Given the description of an element on the screen output the (x, y) to click on. 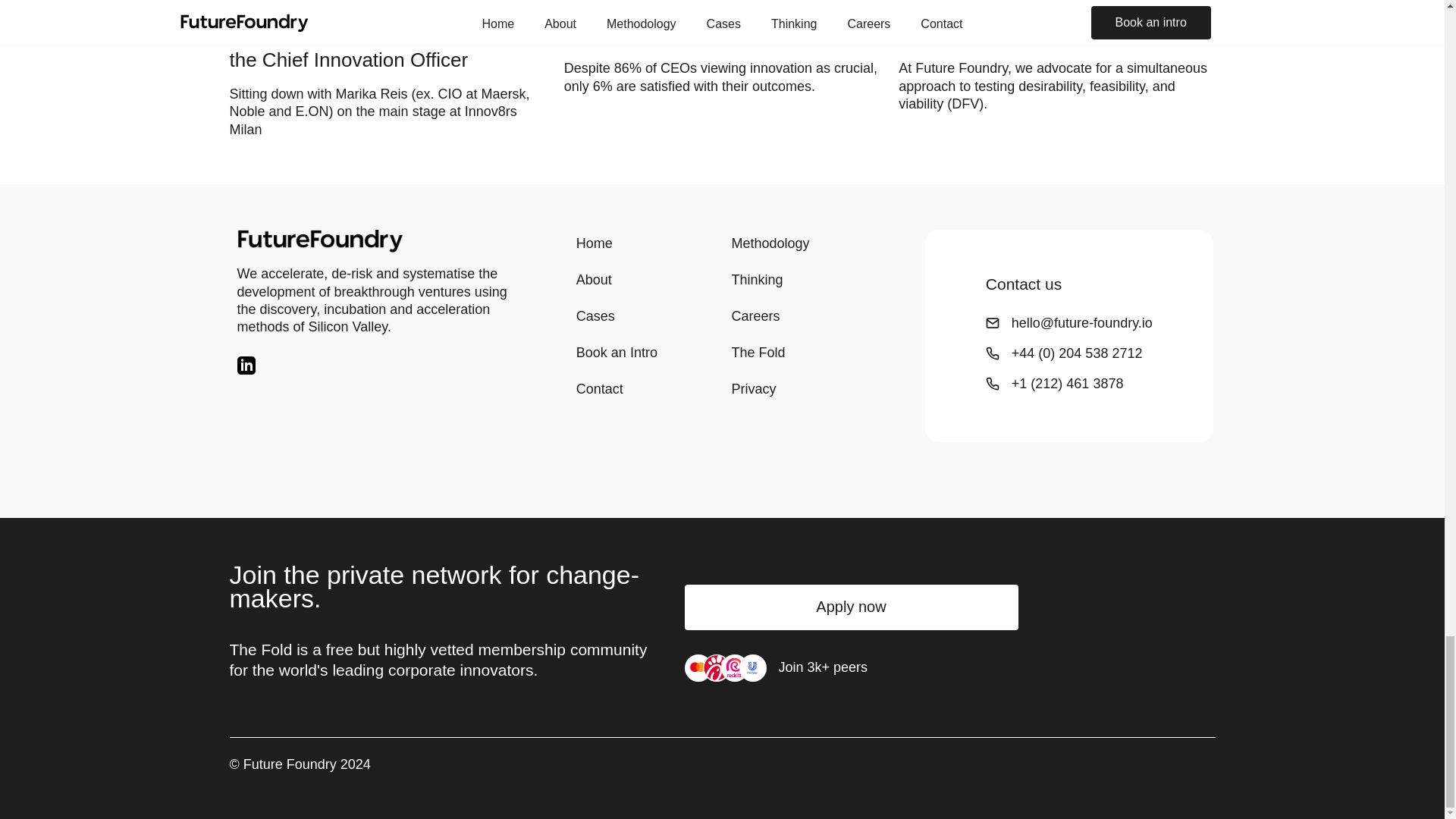
The Fold (798, 352)
Methodology (798, 243)
Contact (644, 388)
Thinking (798, 279)
Apply now (850, 606)
Careers (798, 316)
Privacy (798, 388)
Cases (644, 316)
About (644, 279)
Home (644, 243)
Book an Intro (644, 352)
